Given the description of an element on the screen output the (x, y) to click on. 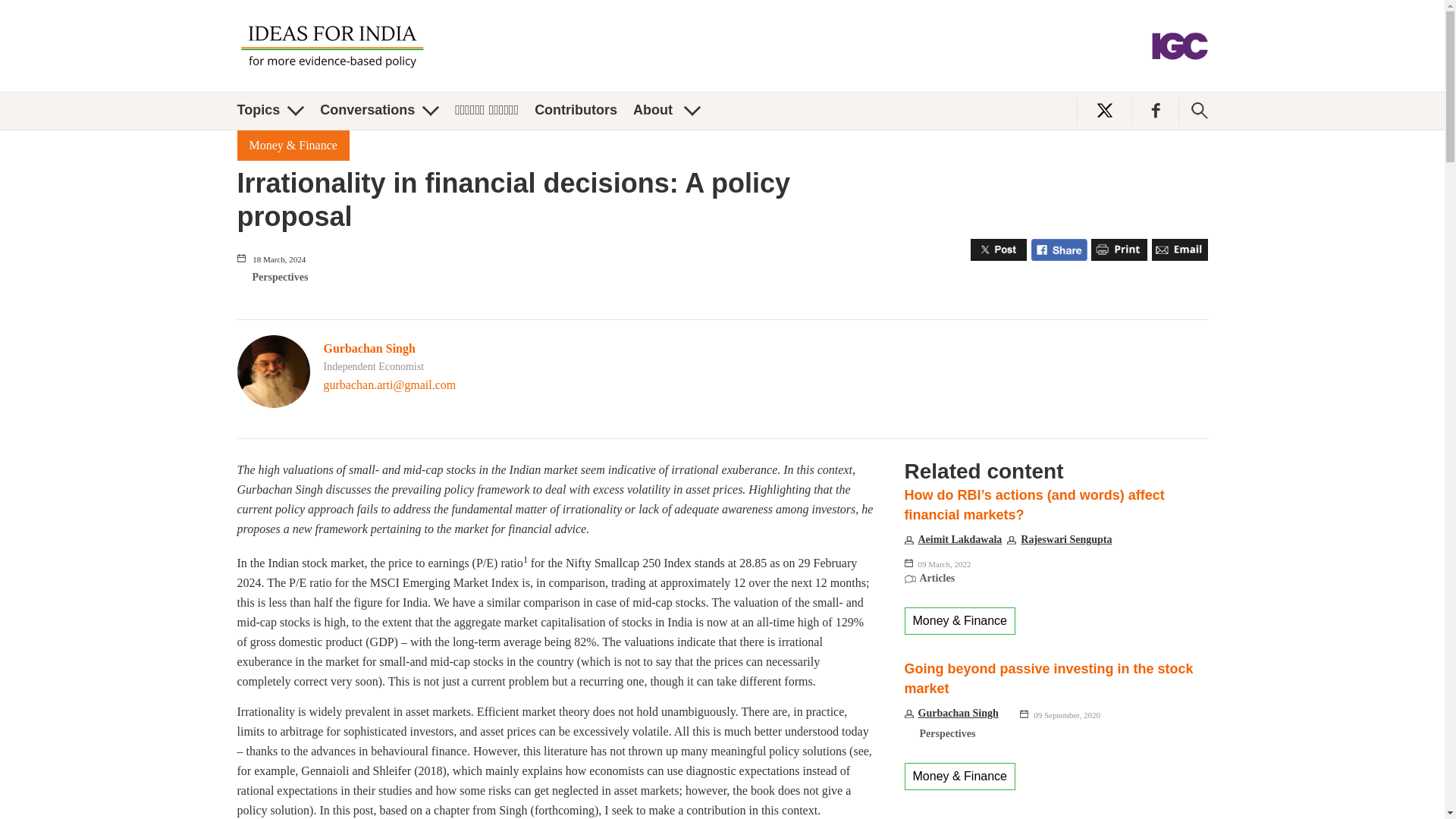
Conversations (379, 109)
Topics (269, 109)
Contributors (575, 109)
About (666, 109)
Gurbachan Singh (368, 348)
